Given the description of an element on the screen output the (x, y) to click on. 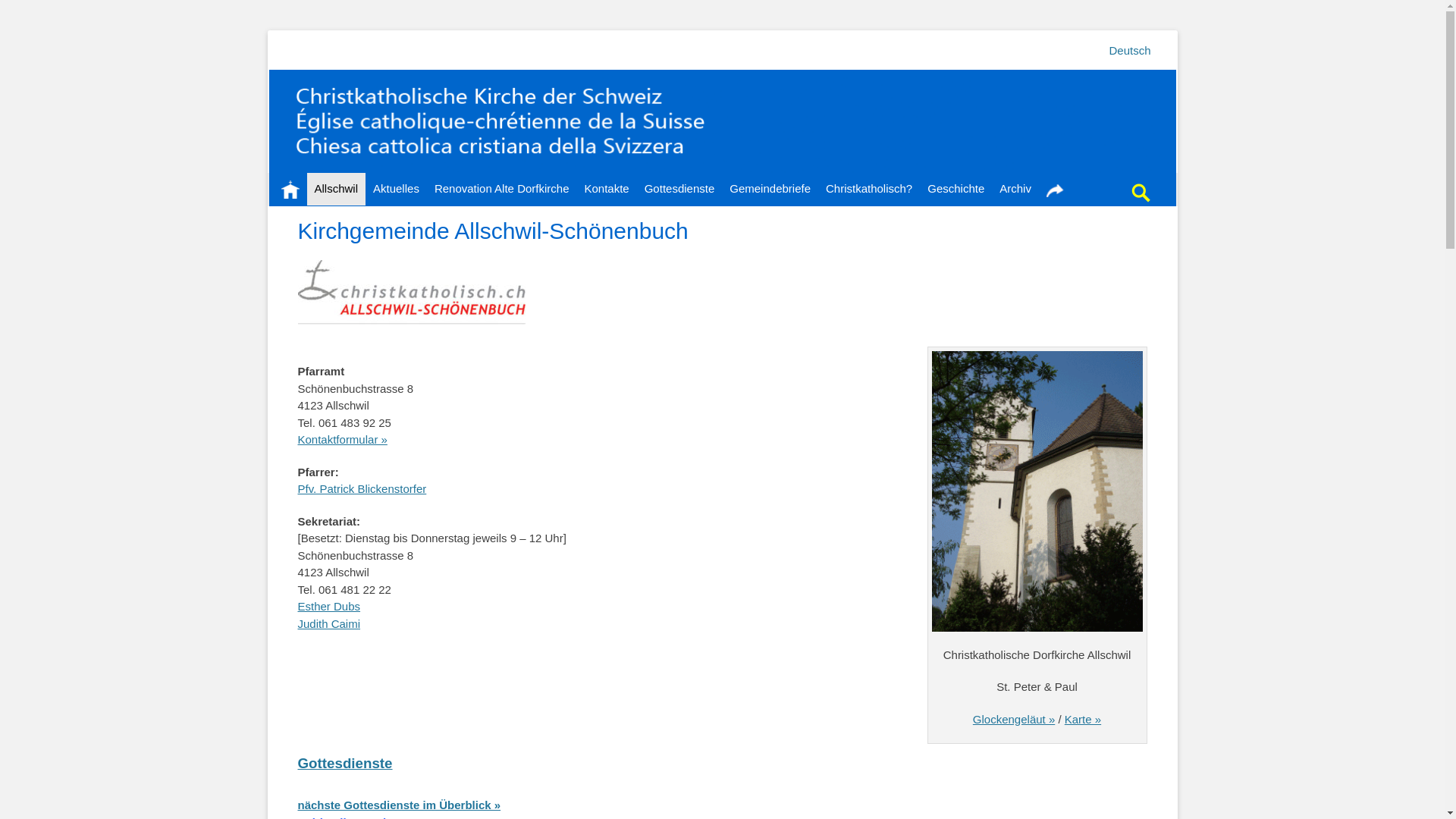
Christkatholisch? Element type: text (868, 188)
Esther Dubs Element type: text (328, 605)
Christkatholische Kirche der Schweiz Element type: text (551, 51)
Gemeindebriefe Element type: text (769, 188)
Suche Element type: text (1151, 172)
Gottesdienste Element type: text (344, 763)
Kontakte Element type: text (606, 188)
Geschichte Element type: text (955, 188)
Aktuelles Element type: text (395, 188)
Renovation Alte Dorfkirche Element type: text (501, 188)
Allschwil Element type: text (335, 188)
Archiv Element type: text (1014, 188)
Judith Caimi Element type: text (328, 623)
Pfv. Patrick Blickenstorfer Element type: text (361, 488)
Gottesdienste Element type: text (679, 188)
Deutsch Element type: text (1129, 49)
